Given the description of an element on the screen output the (x, y) to click on. 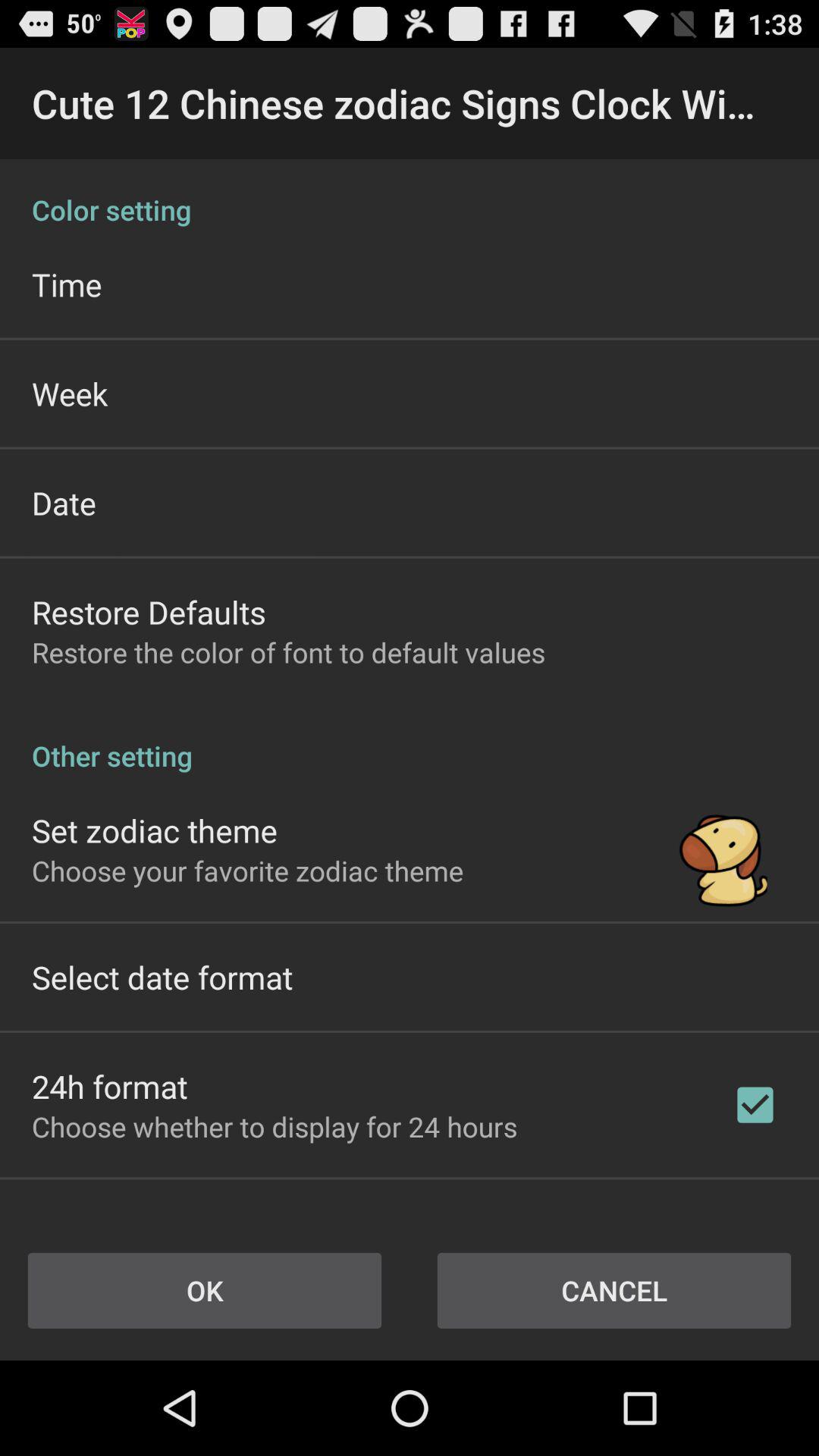
choose the app to the right of the choose your favorite item (723, 848)
